Given the description of an element on the screen output the (x, y) to click on. 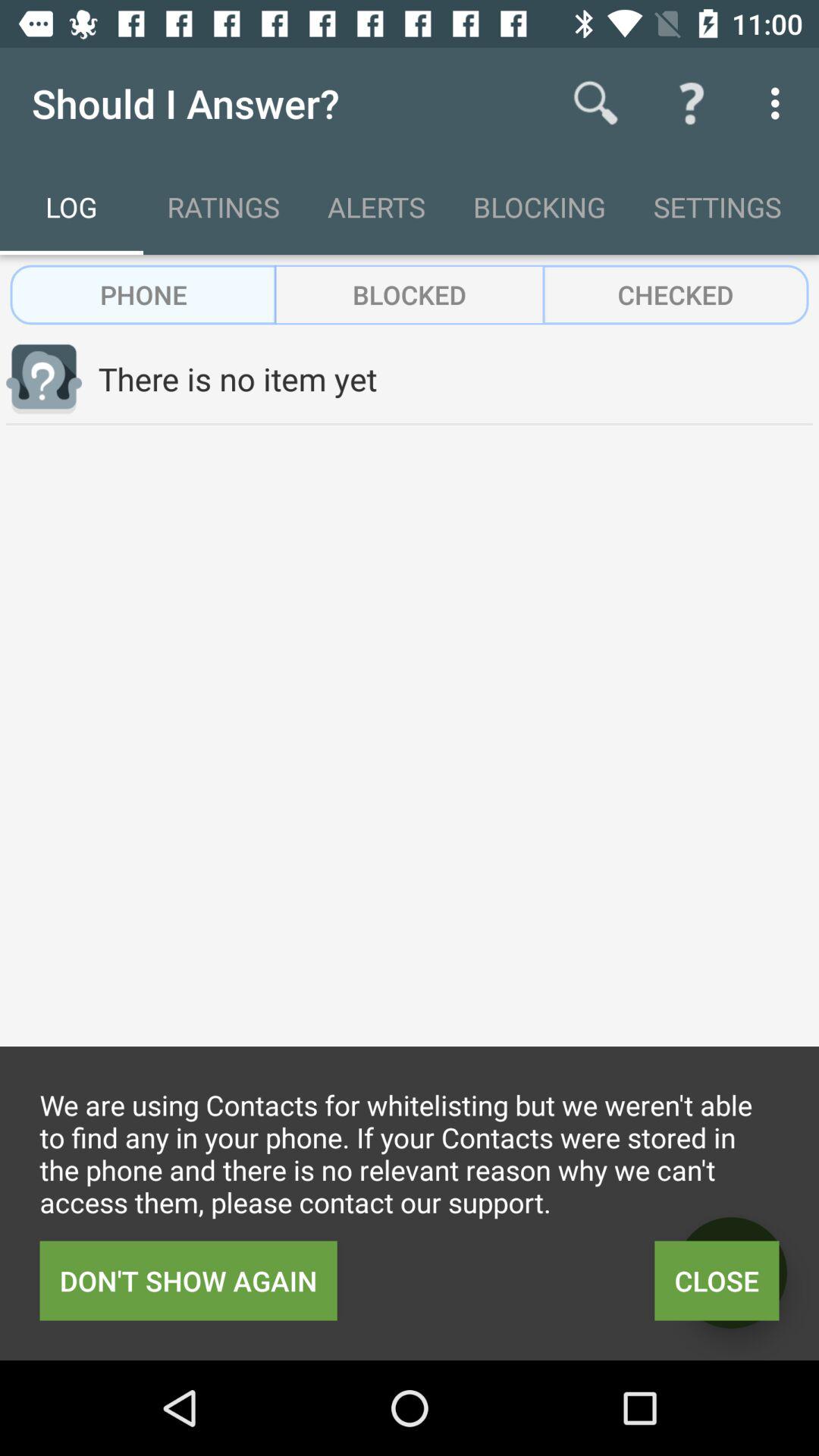
launch the blocked (409, 294)
